Given the description of an element on the screen output the (x, y) to click on. 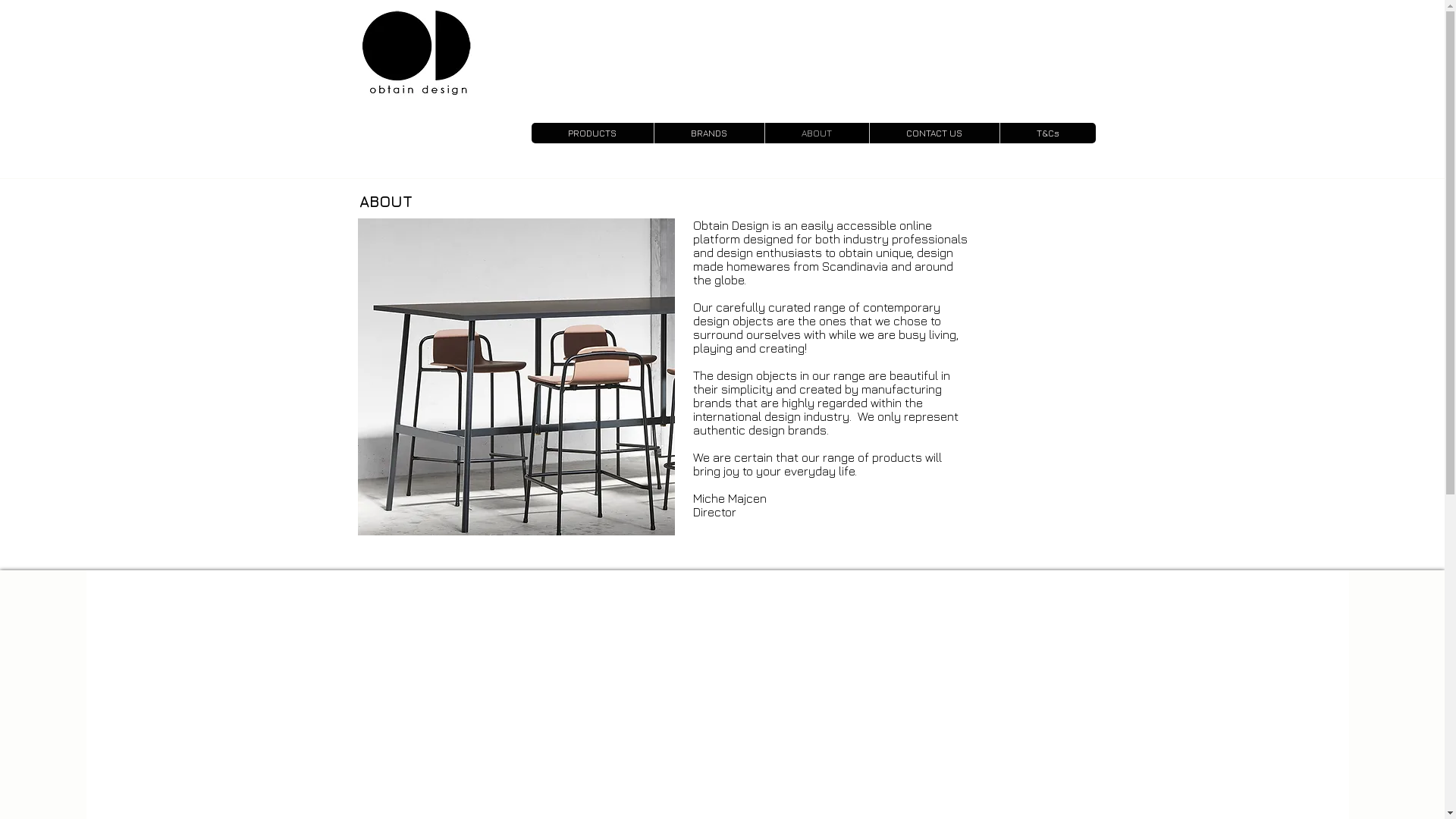
ABOUT Element type: text (816, 132)
CONTACT US Element type: text (934, 132)
Site Search Element type: hover (1011, 45)
PRODUCTS Element type: text (591, 132)
T&Cs Element type: text (1047, 132)
White1.jpg Element type: hover (515, 376)
